Given the description of an element on the screen output the (x, y) to click on. 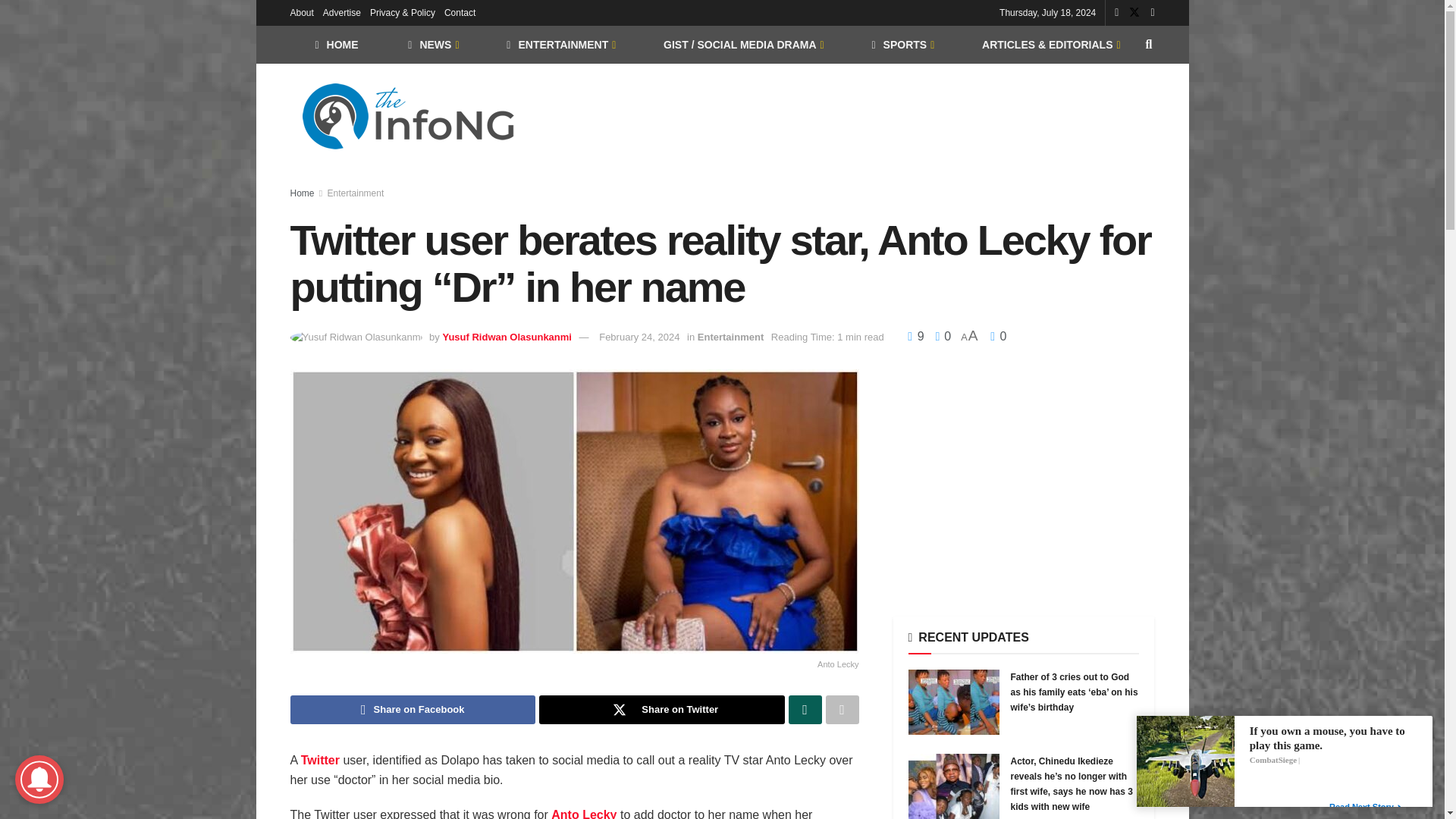
About (301, 12)
Contact (460, 12)
Advertisement (878, 114)
Advertise (342, 12)
HOME (335, 44)
NEWS (431, 44)
ENTERTAINMENT (560, 44)
Sport (902, 44)
